Given the description of an element on the screen output the (x, y) to click on. 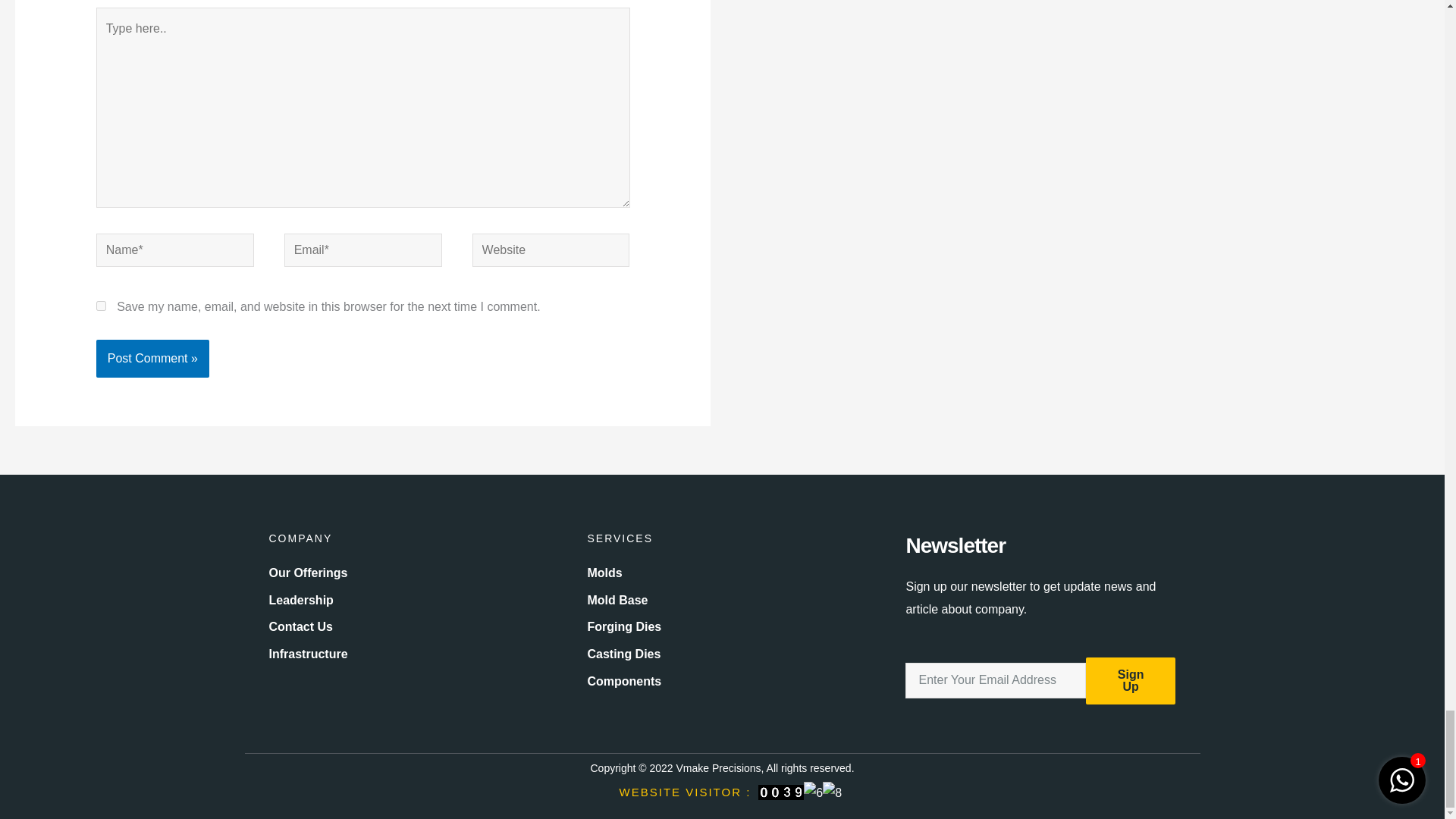
yes (101, 306)
